Given the description of an element on the screen output the (x, y) to click on. 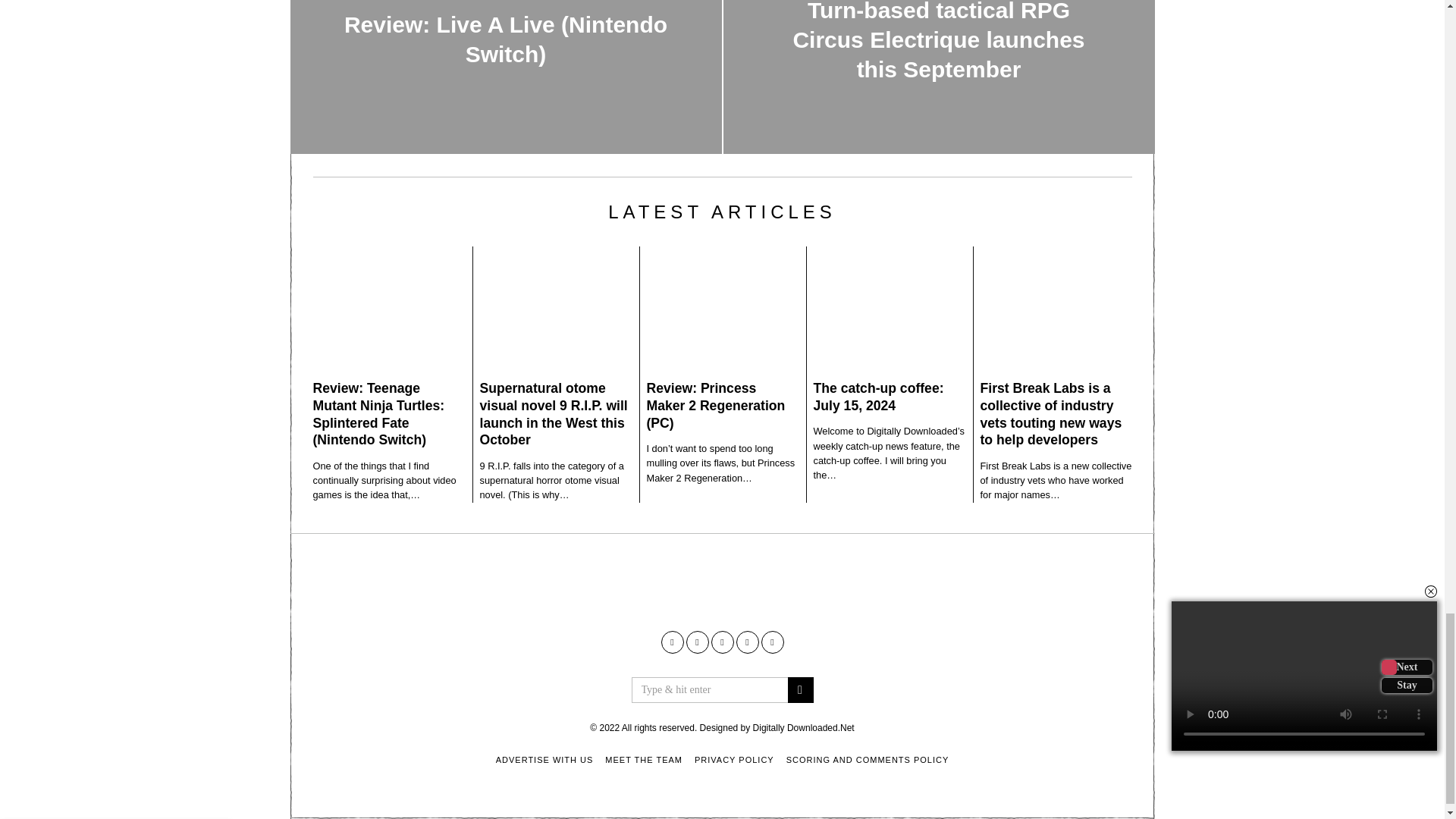
Go (799, 689)
YouTube (696, 641)
Patreon (746, 641)
Facebook (672, 641)
Discord (772, 641)
itch.io (722, 641)
